Given the description of an element on the screen output the (x, y) to click on. 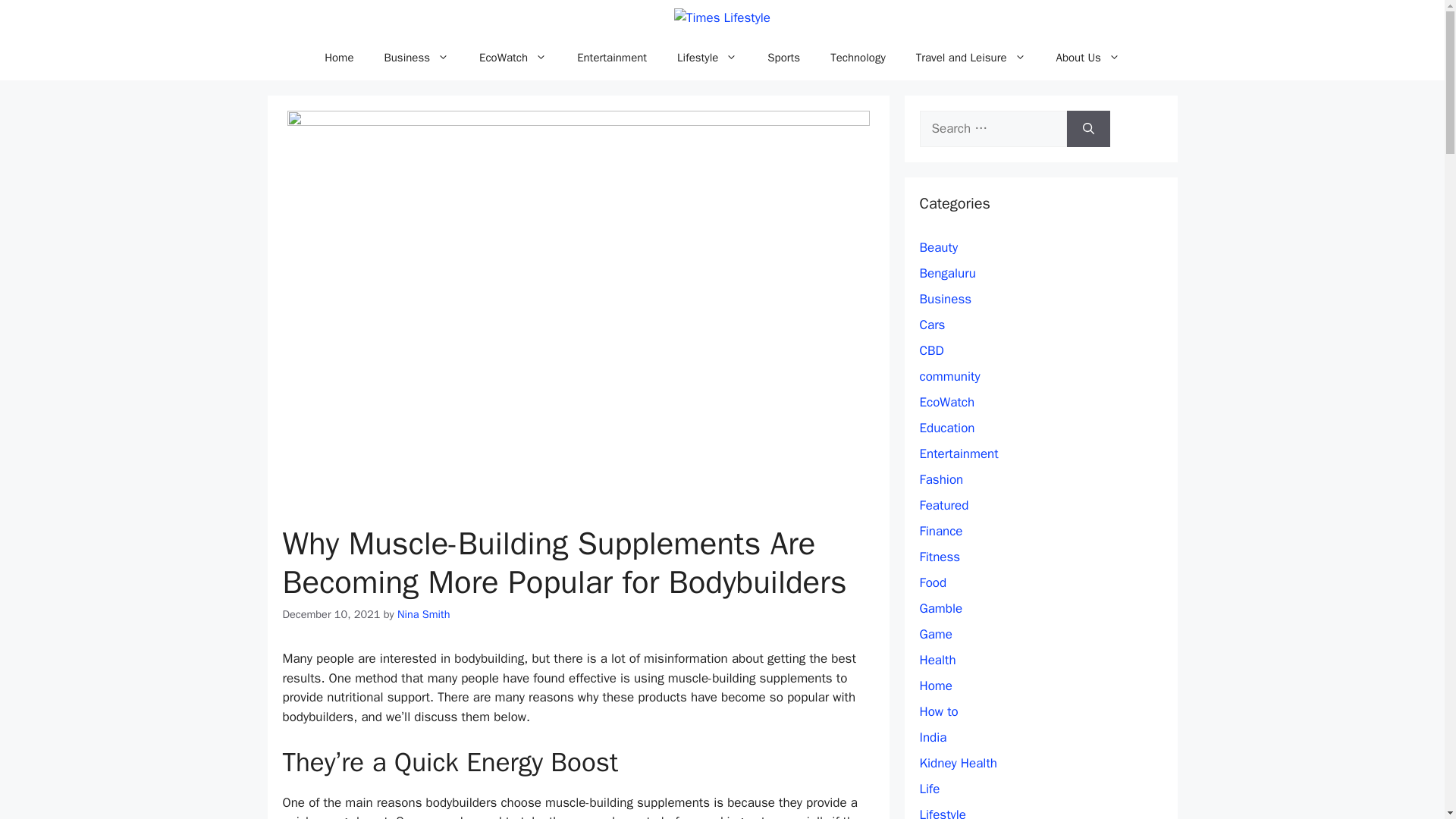
Search for: (991, 128)
Business (416, 57)
Nina Smith (423, 613)
Sports (783, 57)
Entertainment (612, 57)
EcoWatch (513, 57)
View all posts by Nina Smith (423, 613)
Technology (858, 57)
Lifestyle (707, 57)
Bengaluru (946, 273)
Beauty (938, 247)
About Us (1088, 57)
Home (338, 57)
Travel and Leisure (971, 57)
